Given the description of an element on the screen output the (x, y) to click on. 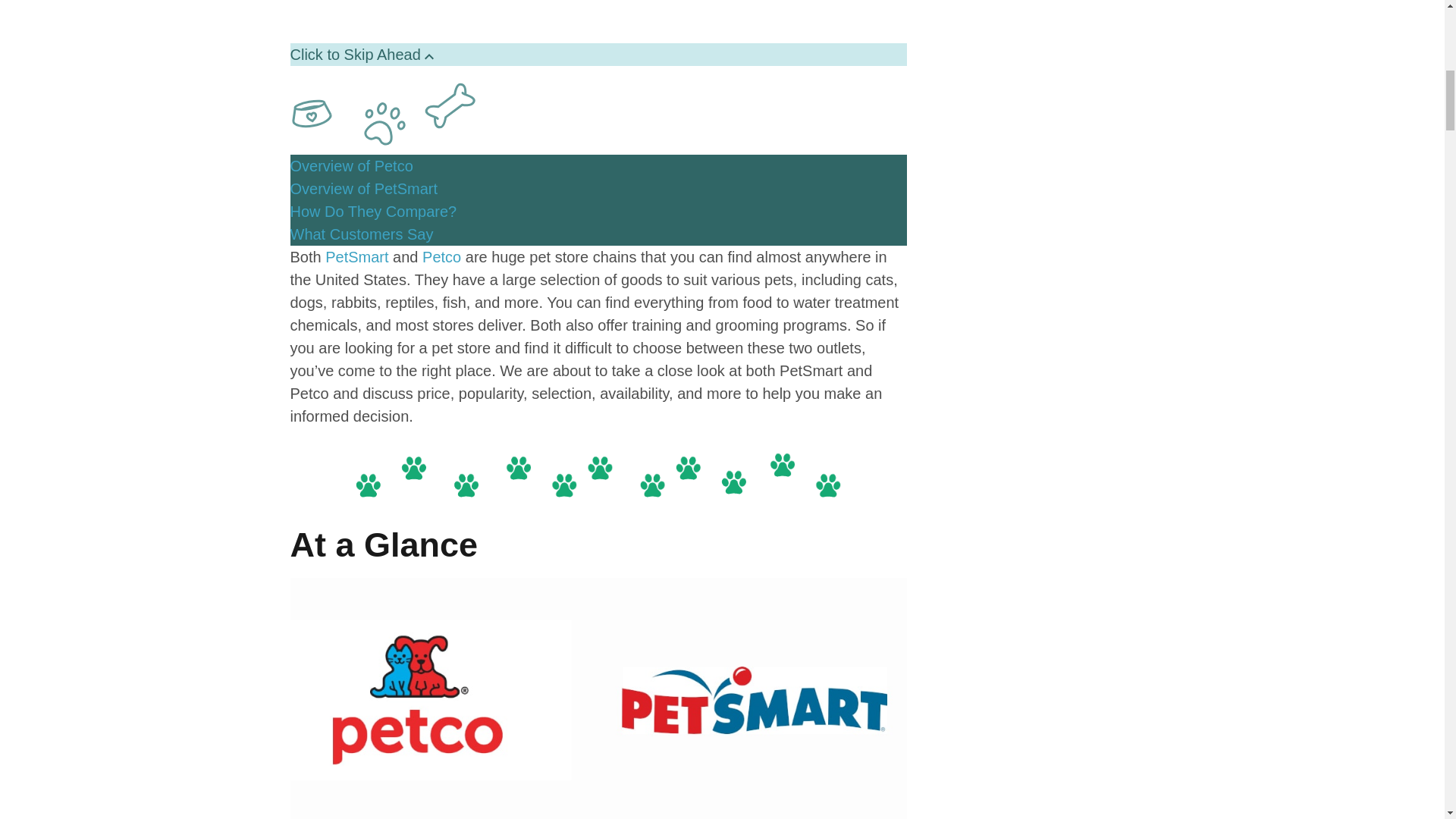
How Do They Compare? (373, 211)
What Customers Say (360, 234)
Petco (441, 256)
Overview of Petco (350, 166)
Overview of PetSmart (363, 188)
PetSmart (356, 256)
